Given the description of an element on the screen output the (x, y) to click on. 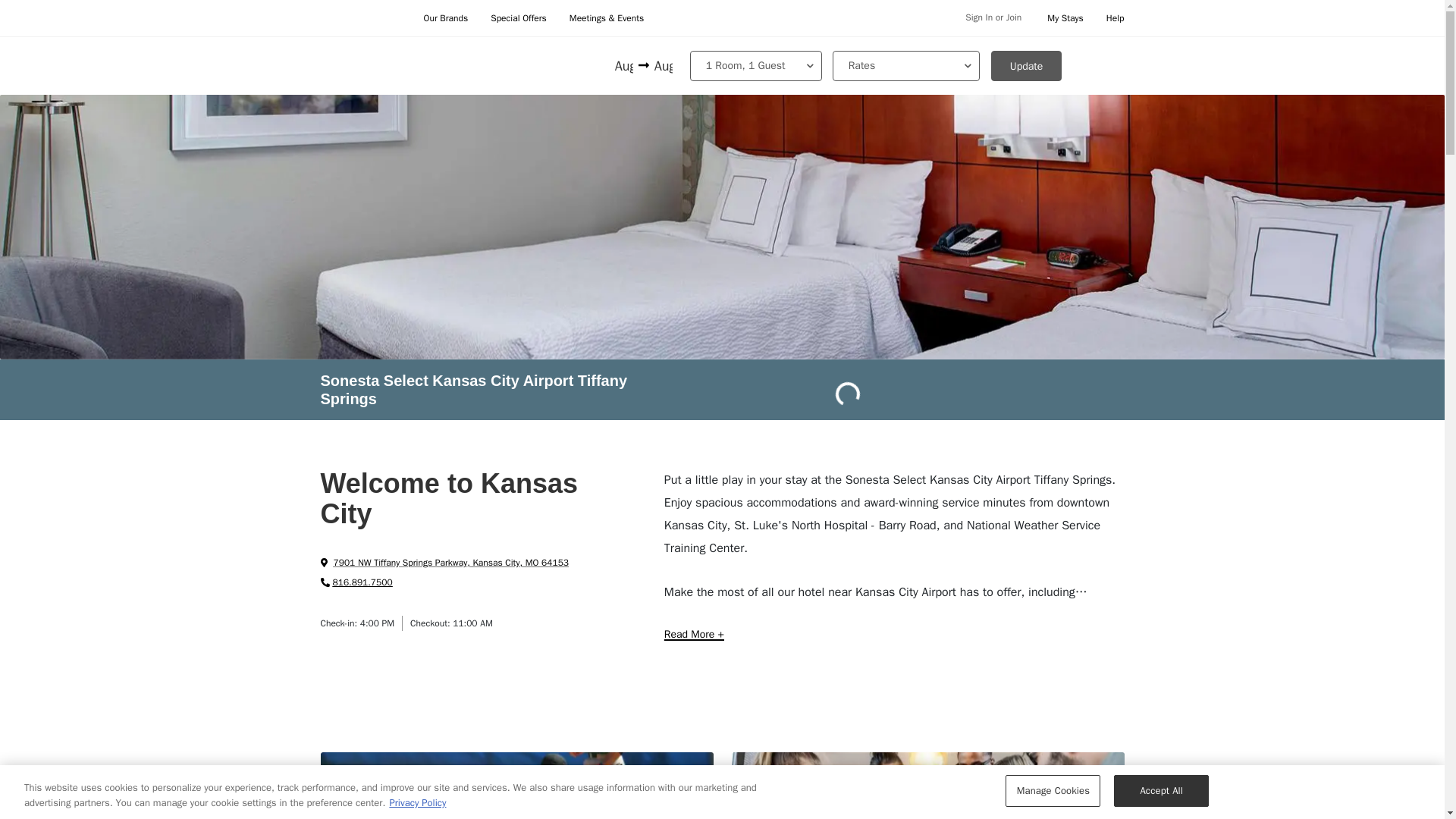
1 Room, 1 Guest (756, 65)
Sign In or Join (993, 18)
Update (1026, 65)
My Stays (1064, 18)
7901 NW Tiffany Springs Parkway, Kansas City, MO 64153 (444, 562)
Aug 07 (661, 66)
Help (1115, 18)
Special Offers (518, 18)
Aug 06 (625, 66)
Rates (905, 65)
816.891.7500 (355, 582)
Our Brands (445, 18)
